Given the description of an element on the screen output the (x, y) to click on. 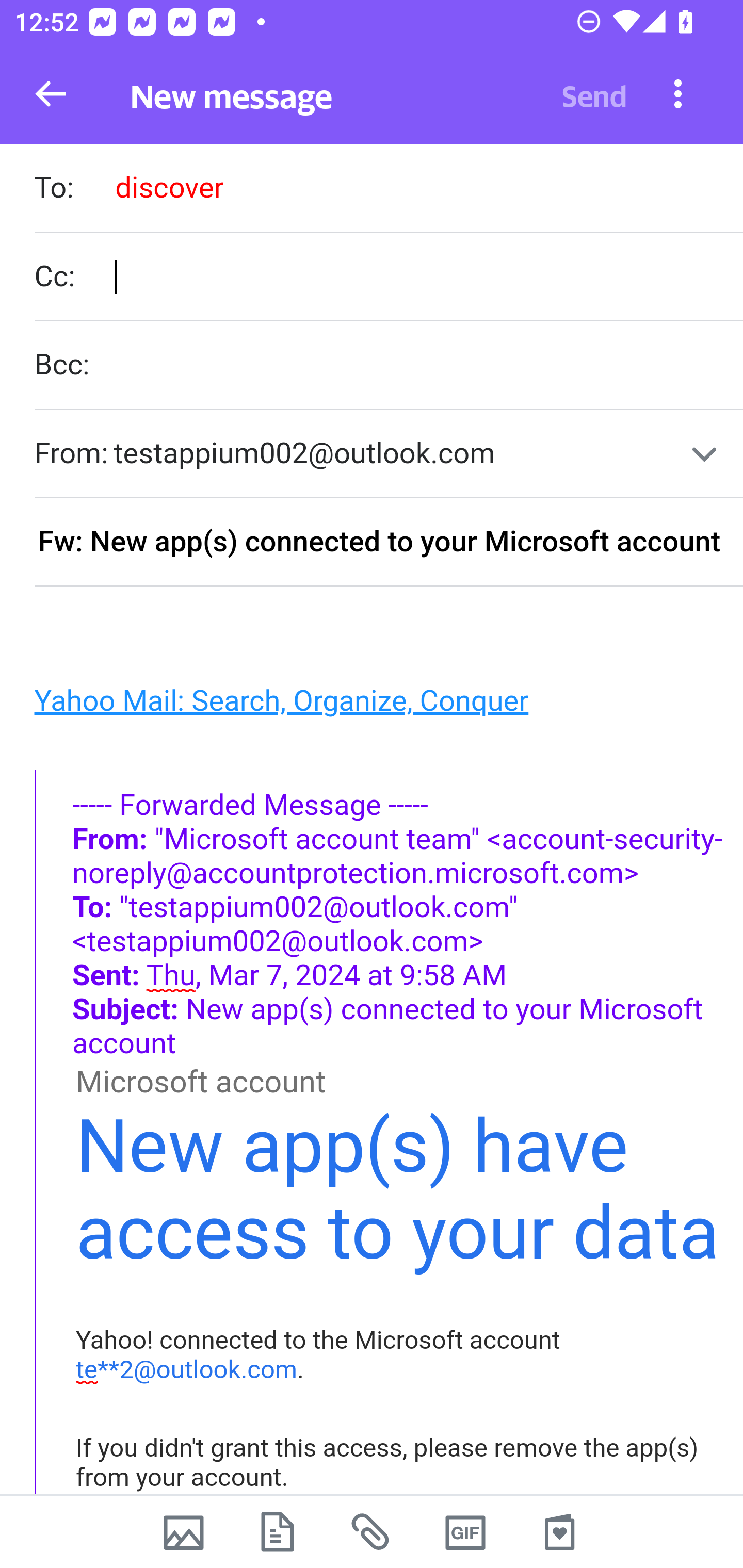
Back (50, 93)
Send (594, 93)
More options (677, 93)
To: discover (387, 189)
Cc: (387, 276)
Bcc: (387, 365)
chevron_down From: testappium002@outlook.com (387, 453)
Fw: New app(s) connected to your Microsoft account (387, 543)
Yahoo Mail: Search, Organize, Conquer (280, 700)
te**2@outlook.com (186, 1368)
Camera photos (183, 1531)
Device files (277, 1531)
Recent attachments from mail (371, 1531)
GIFs (465, 1531)
Stationery (559, 1531)
